Given the description of an element on the screen output the (x, y) to click on. 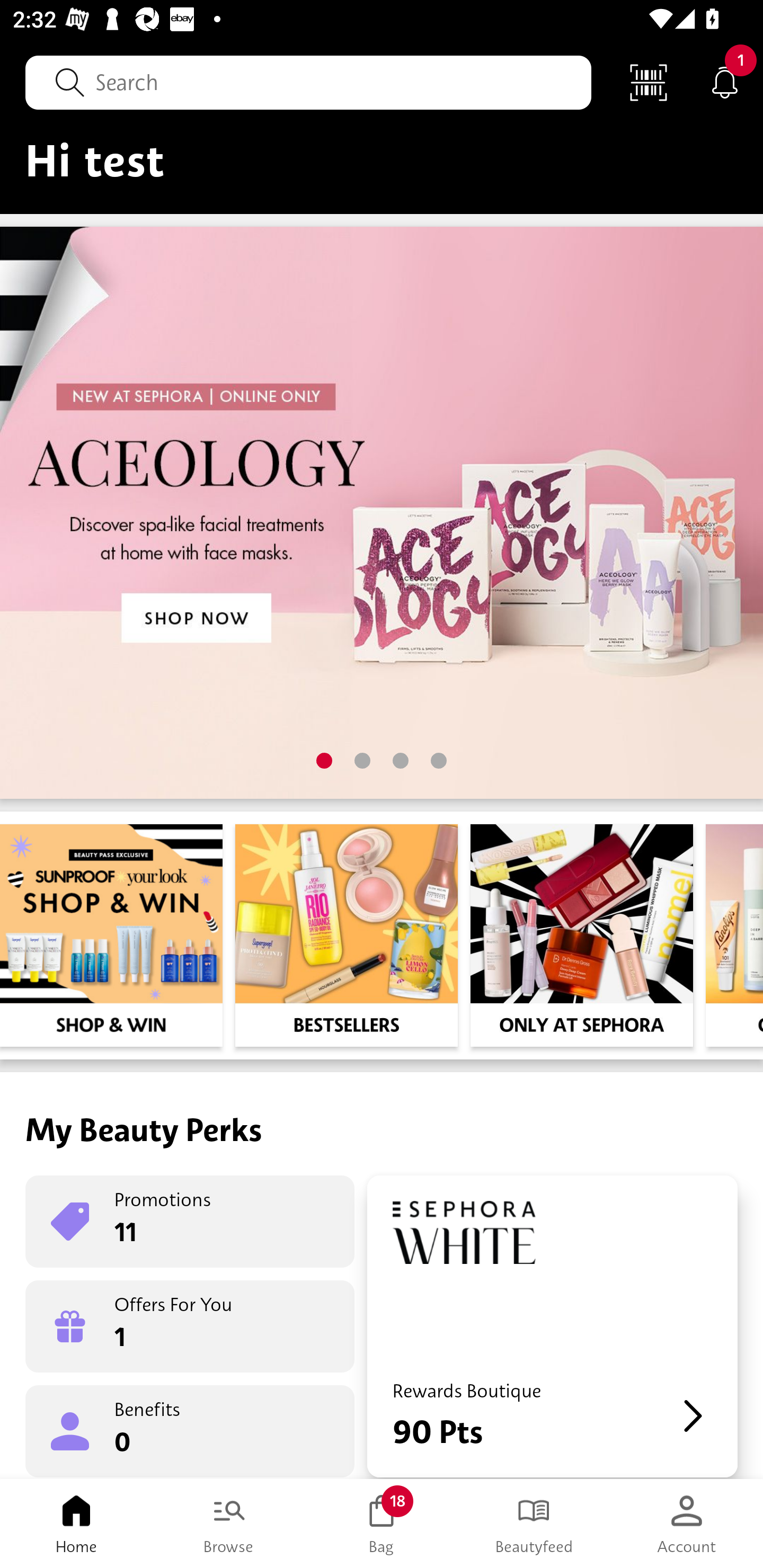
Scan Code (648, 81)
Notifications (724, 81)
Search (308, 81)
Promotions 11 (189, 1221)
Rewards Boutique 90 Pts (552, 1326)
Offers For You 1 (189, 1326)
Benefits 0 (189, 1430)
Browse (228, 1523)
Bag 18 Bag (381, 1523)
Beautyfeed (533, 1523)
Account (686, 1523)
